Given the description of an element on the screen output the (x, y) to click on. 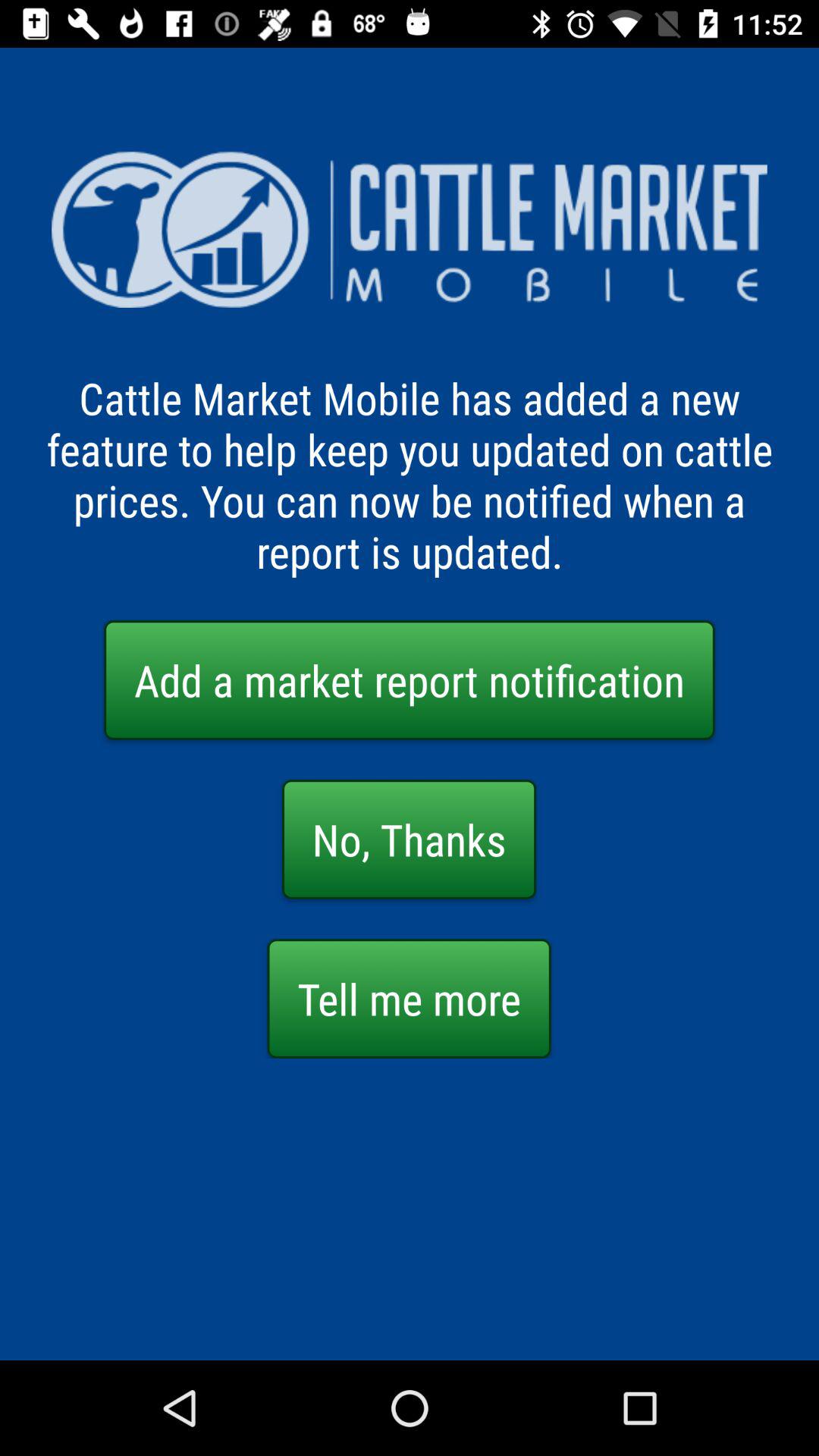
tap button above the tell me more item (409, 839)
